Given the description of an element on the screen output the (x, y) to click on. 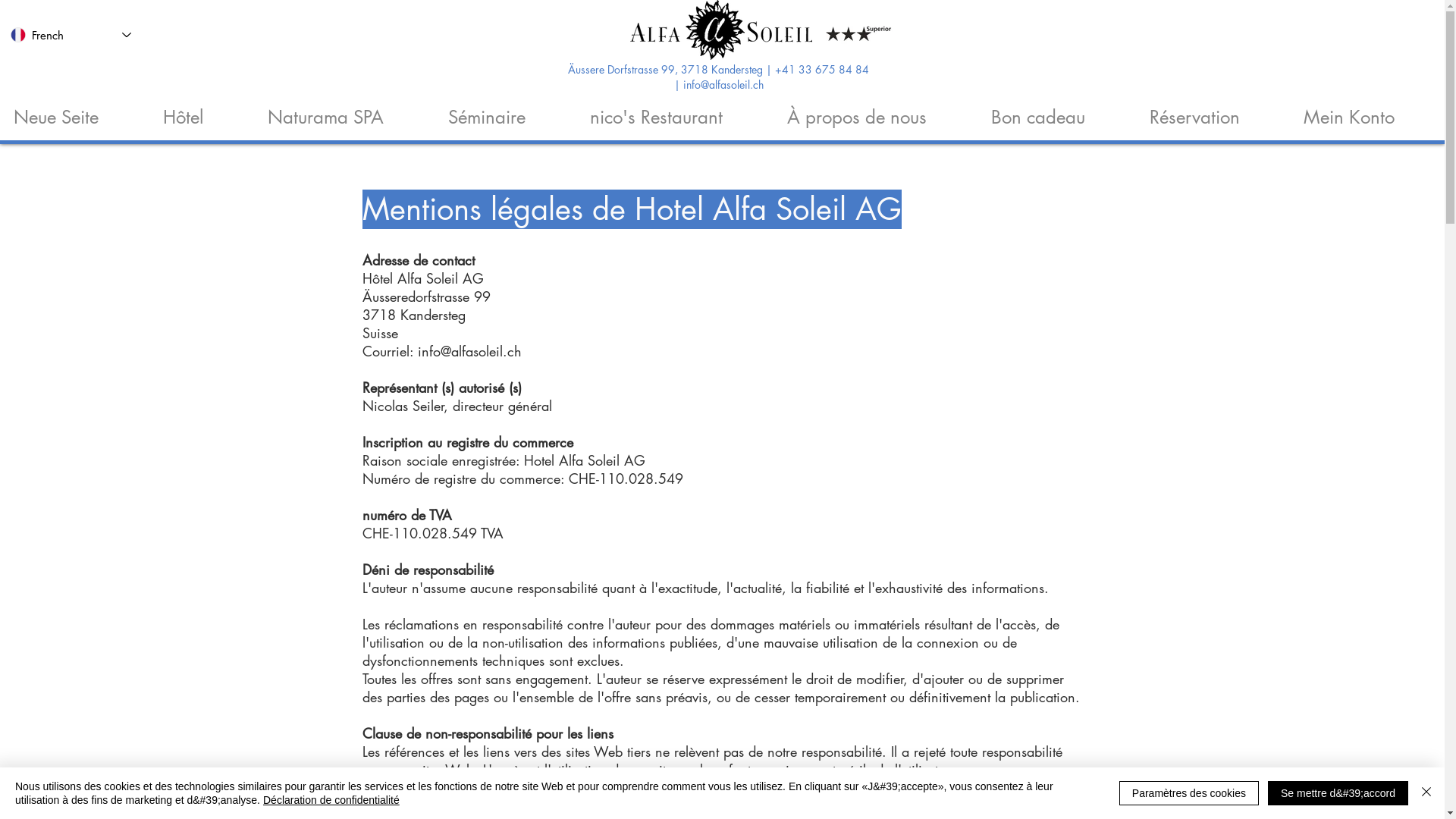
info@alfasoleil.ch Element type: text (468, 351)
+41 33 675 84 84 |  Element type: text (771, 78)
Neue Seite Element type: text (74, 110)
nico's Restaurant Element type: text (674, 110)
Se mettre d&#39;accord Element type: text (1337, 793)
Mein Konto Element type: text (1366, 110)
Bon cadeau Element type: text (1056, 110)
Naturama SPA Element type: text (344, 110)
info@alfasoleil.ch Element type: text (722, 85)
